Given the description of an element on the screen output the (x, y) to click on. 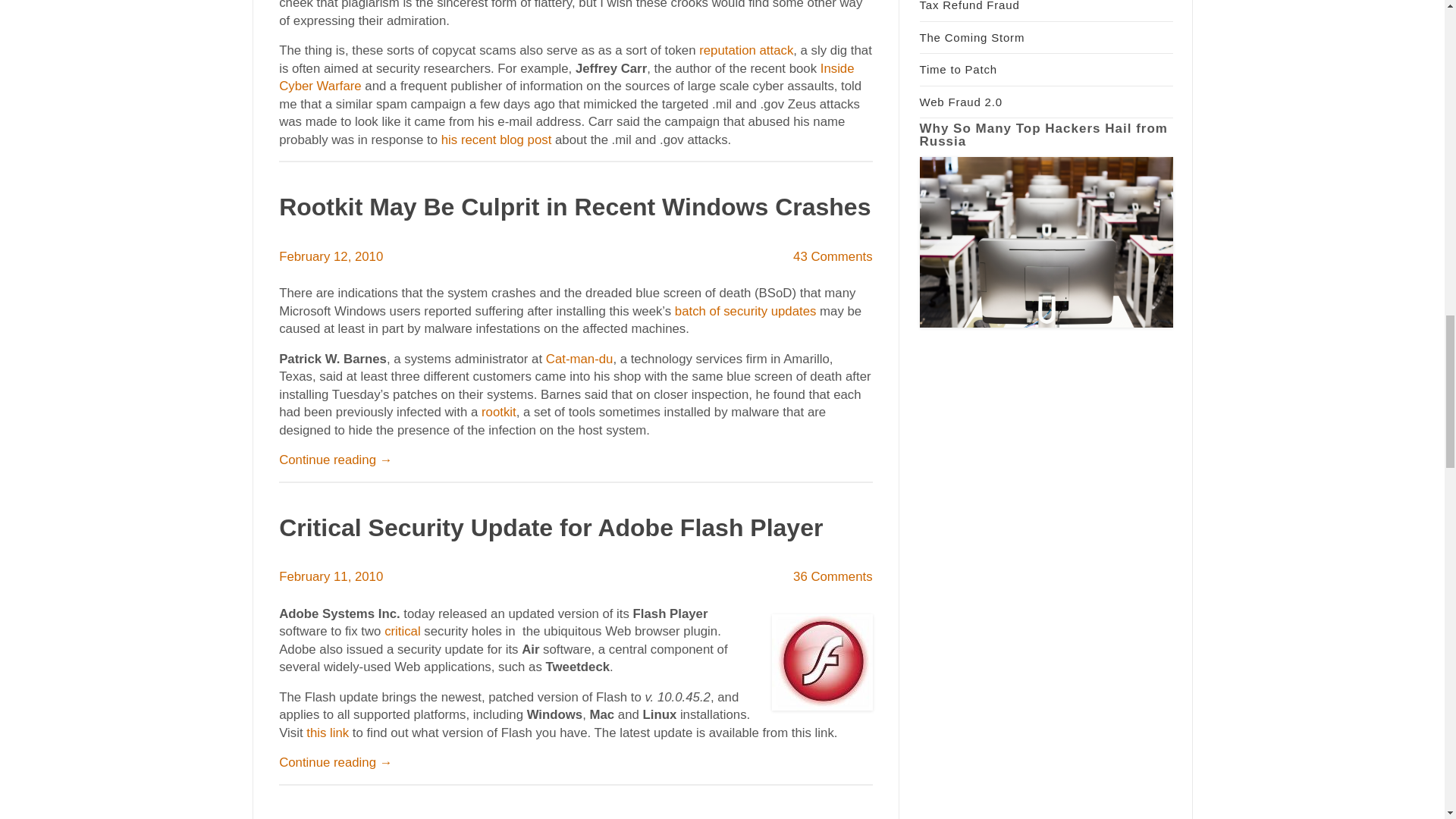
reputation attack (745, 50)
Rootkit May Be Culprit in Recent Windows Crashes (574, 206)
Inside Cyber Warfare (566, 77)
flashicon (821, 662)
his recent blog post (496, 139)
Permalink to Critical Security Update for Adobe Flash Player (550, 527)
